Given the description of an element on the screen output the (x, y) to click on. 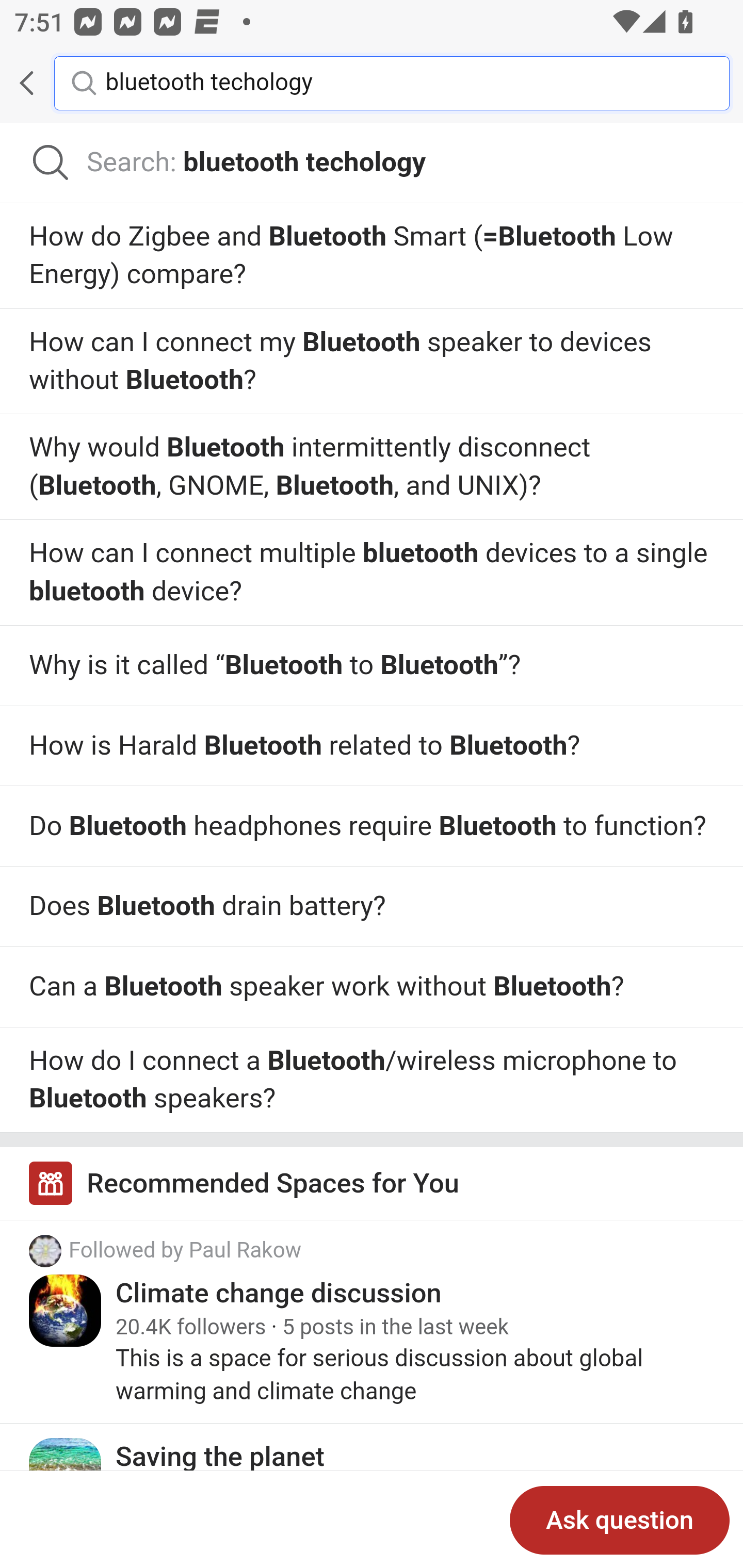
Me Home Search Add (371, 82)
bluetooth techology (402, 82)
Search: blur (371, 162)
Do wireless Bluetooth headphones cause cancer? (371, 361)
Do wireless Bluetooth headphones cause cancer? (371, 572)
What are some great mind-blowing books? Why? (371, 665)
What are some good bluetooth headsets? (371, 826)
What is the best portable Bluetooth speaker? (371, 1079)
Icon for Climate change discussion (65, 1311)
Icon for Saving the planet (65, 1472)
